Given the description of an element on the screen output the (x, y) to click on. 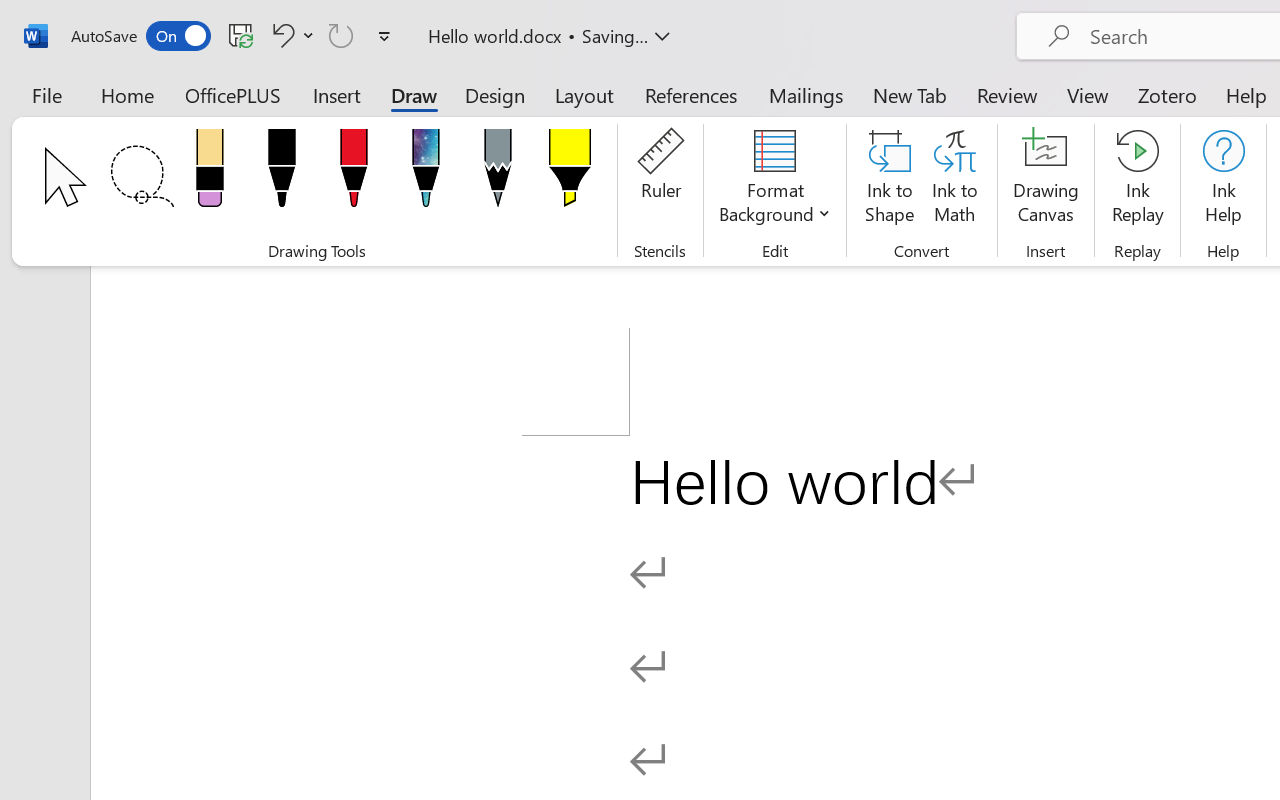
More Options (308, 35)
Pen: Red, 0.5 mm (353, 173)
Highlighter: Yellow, 6 mm (569, 173)
Undo Click and Type Formatting (280, 35)
Layout (584, 94)
Home (127, 94)
Ruler (660, 179)
Ink to Shape (889, 179)
Insert (337, 94)
References (690, 94)
Design (495, 94)
Pen: Galaxy, 1 mm (426, 173)
